Given the description of an element on the screen output the (x, y) to click on. 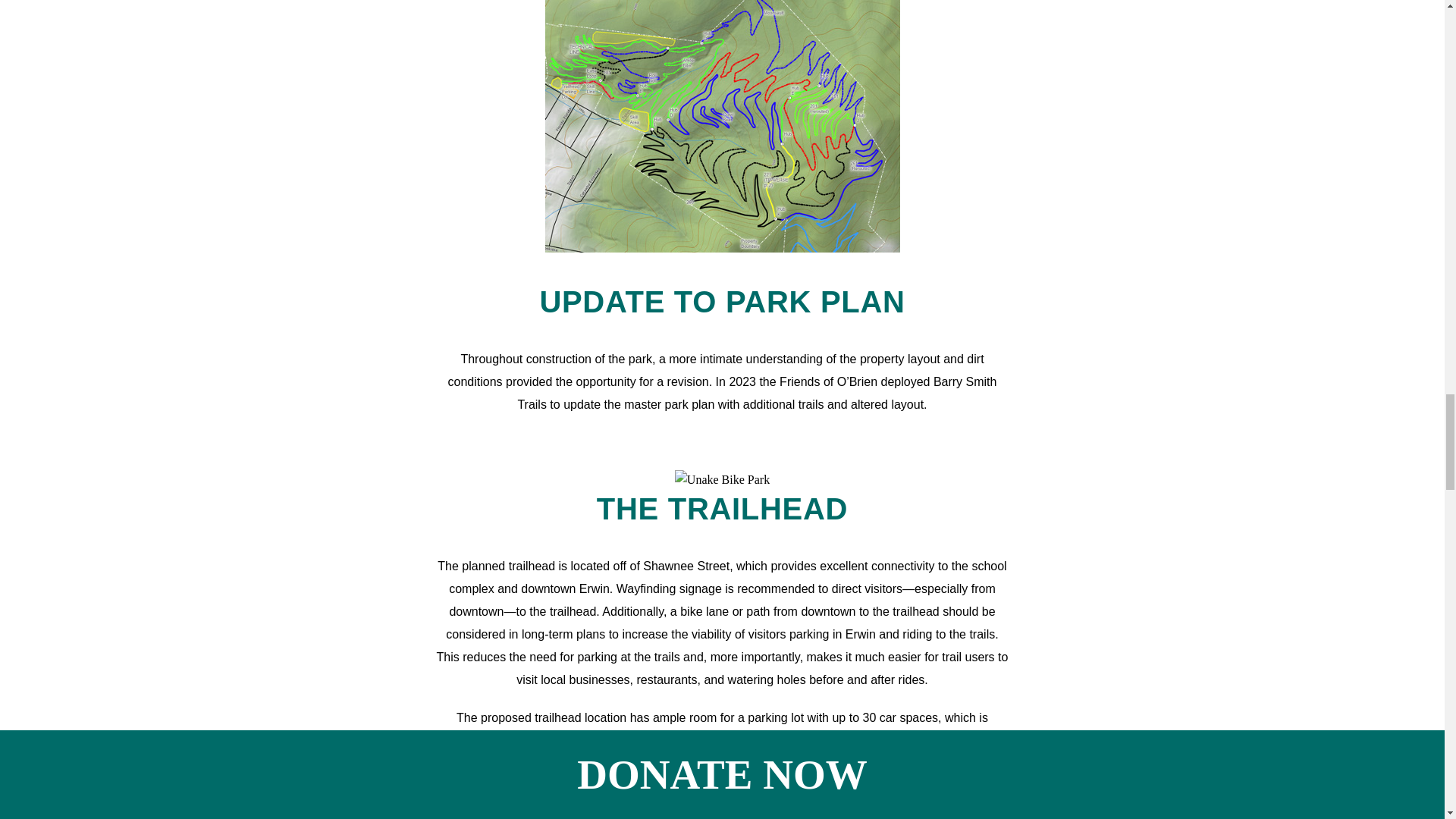
2023-park-plan-update (721, 126)
